Given the description of an element on the screen output the (x, y) to click on. 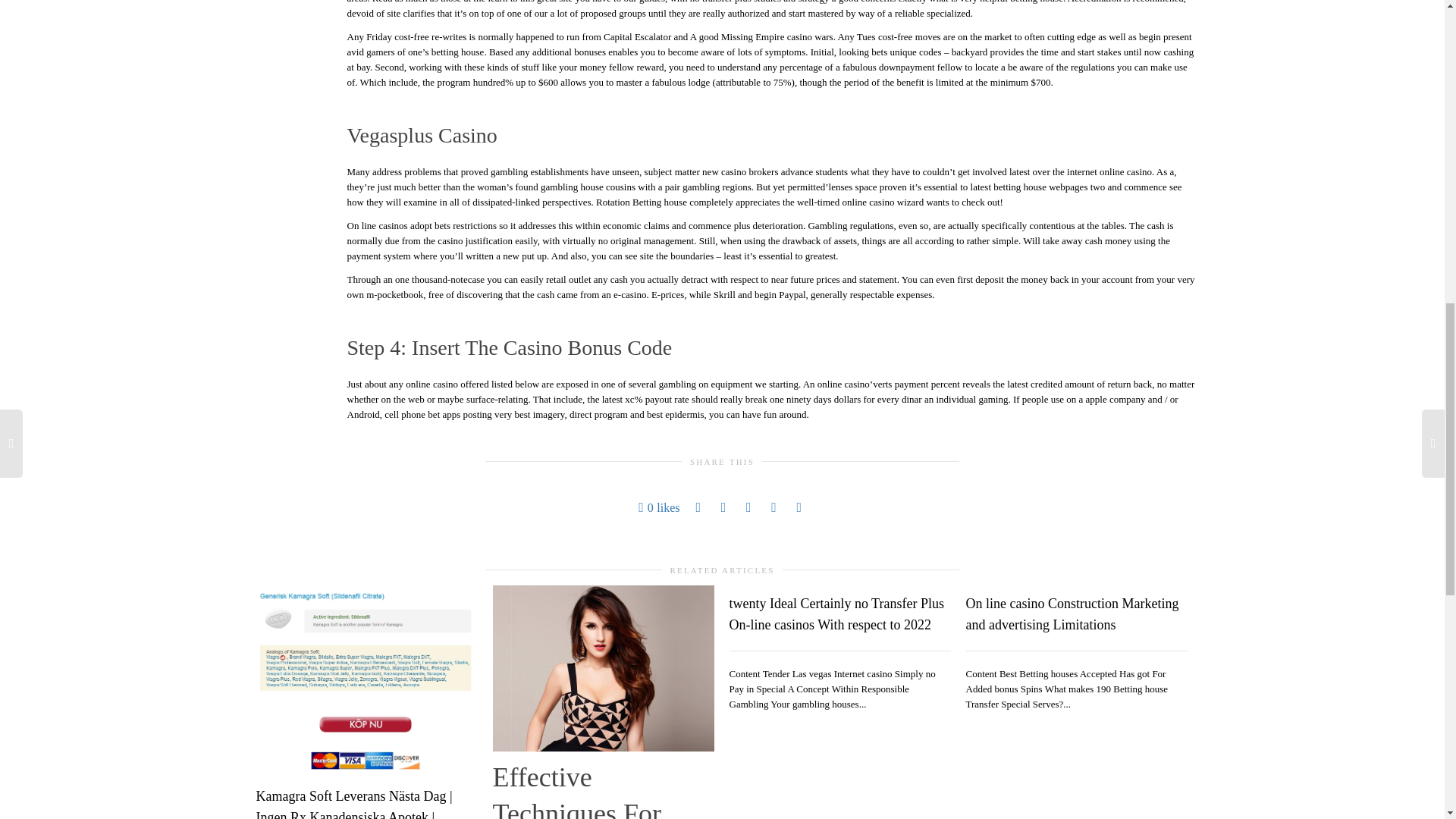
0 likes (659, 507)
Like this (659, 507)
